Given the description of an element on the screen output the (x, y) to click on. 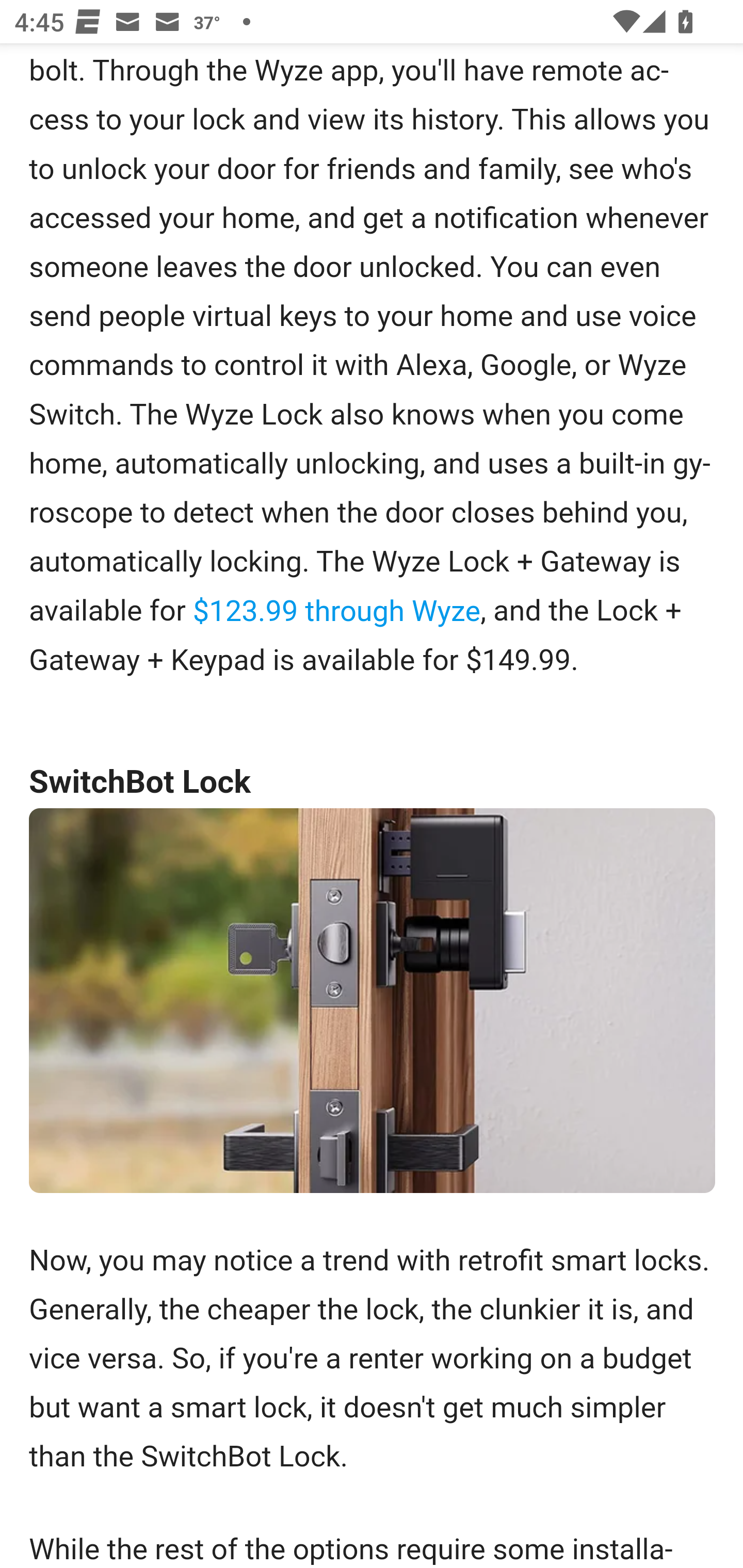
$123.99 through Wyze (336, 609)
